Given the description of an element on the screen output the (x, y) to click on. 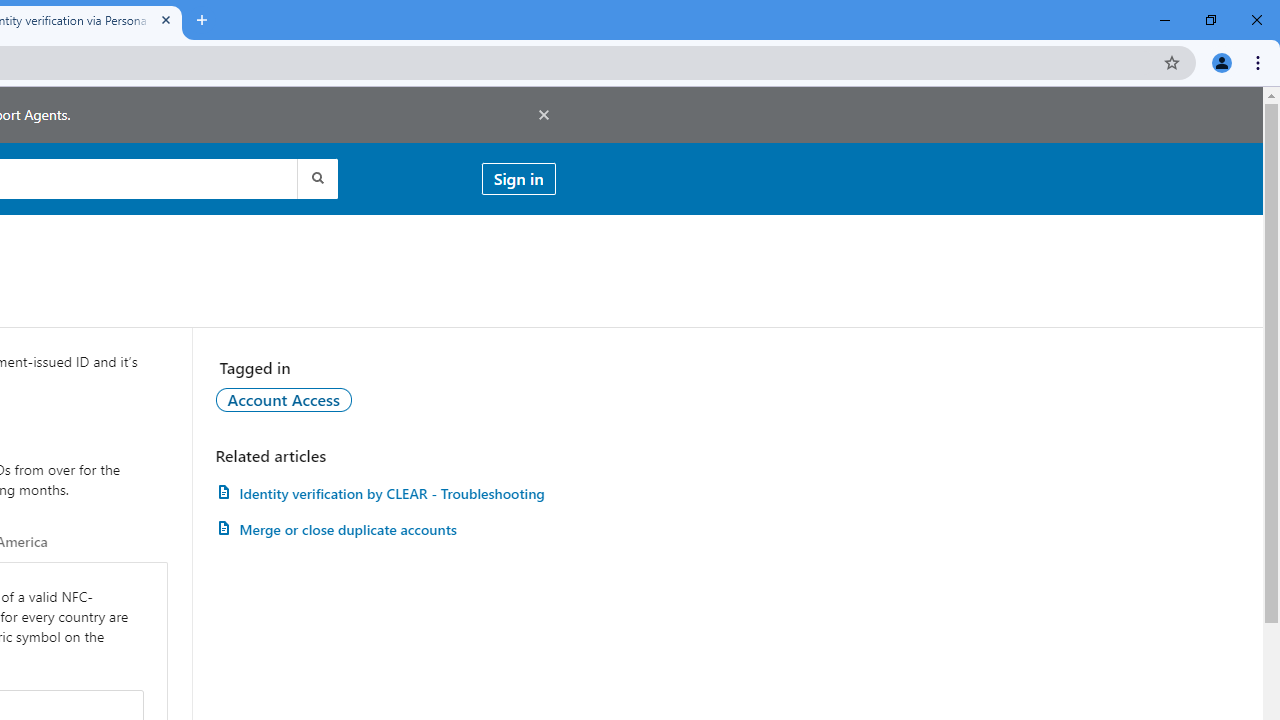
Account Access (283, 399)
AutomationID: topic-link-a151002 (283, 399)
Submit search (316, 178)
Merge or close duplicate accounts (385, 529)
Identity verification by CLEAR - Troubleshooting (385, 493)
AutomationID: article-link-a1337200 (385, 529)
AutomationID: article-link-a1457505 (385, 493)
